Given the description of an element on the screen output the (x, y) to click on. 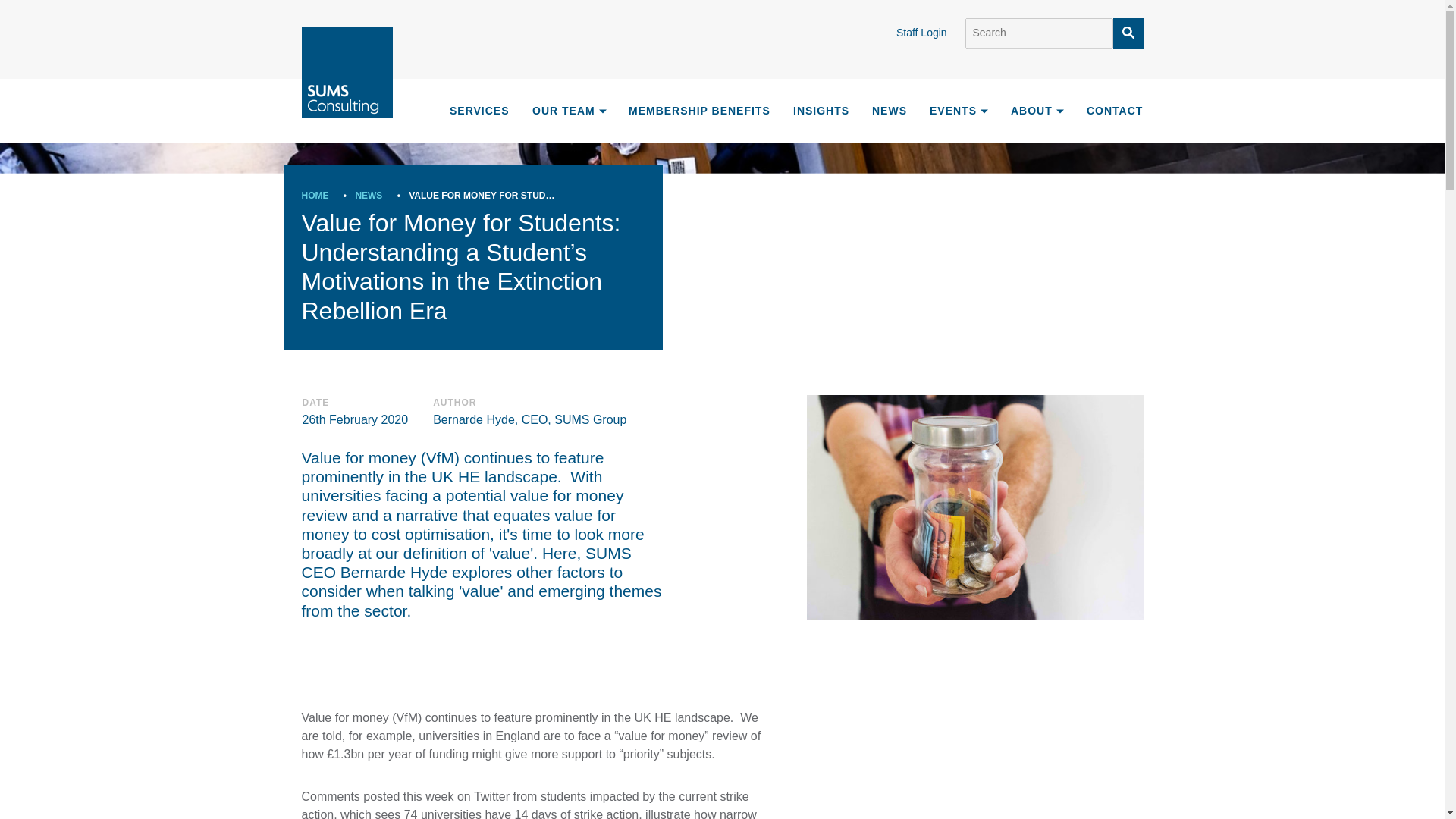
SERVICES (478, 109)
NEWS (368, 195)
EVENTS (959, 110)
OUR TEAM (569, 110)
Staff Login (929, 32)
HOME (315, 195)
Search (1037, 33)
MEMBERSHIP BENEFITS (699, 110)
